Given the description of an element on the screen output the (x, y) to click on. 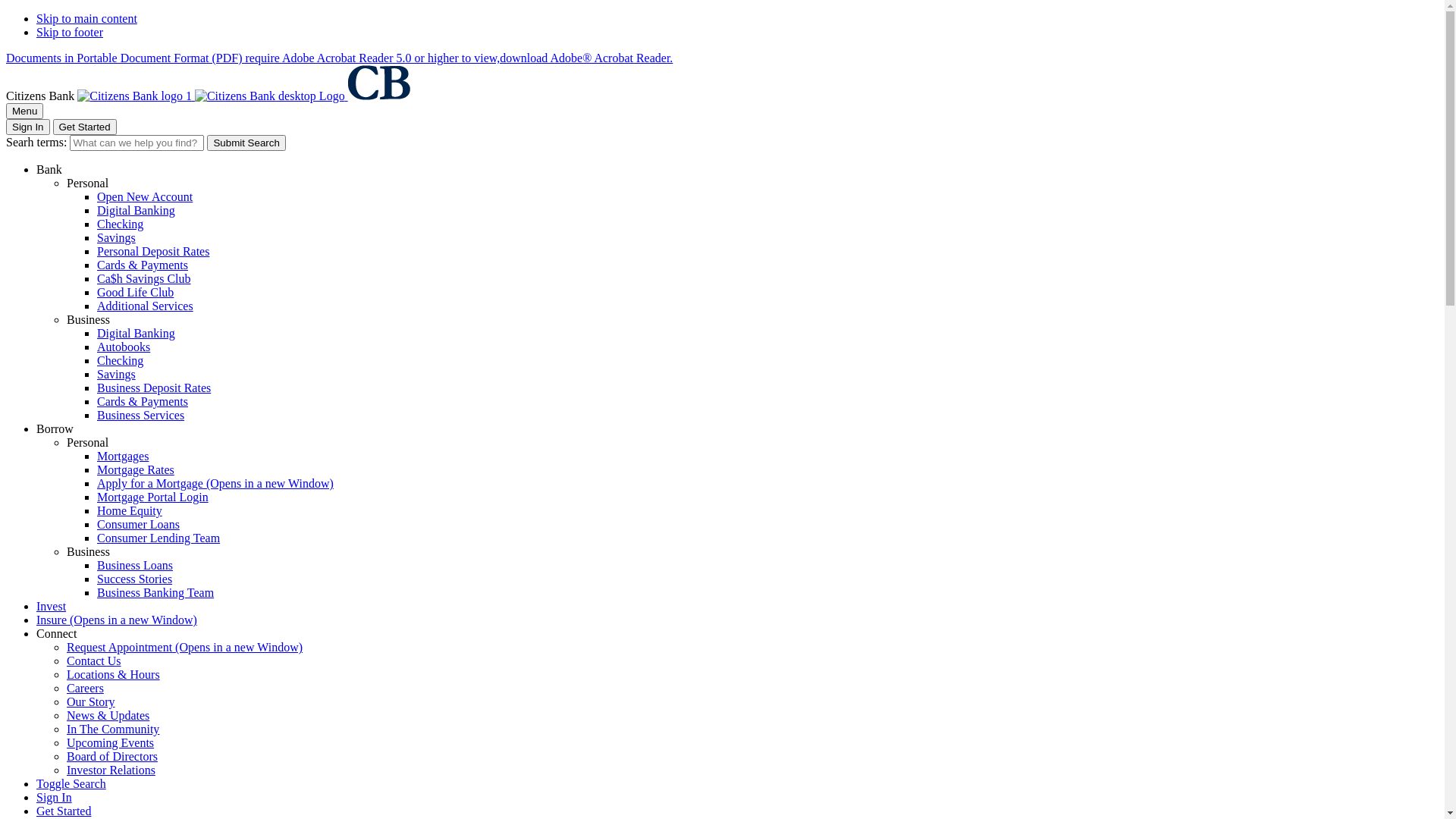
Skip to footer Element type: text (69, 31)
Toggle Search Element type: text (71, 783)
Business Banking Team Element type: text (155, 592)
Business Deposit Rates Element type: text (153, 387)
Savings Element type: text (116, 237)
Autobooks Element type: text (123, 346)
Mortgage Rates Element type: text (135, 469)
Investor Relations Element type: text (110, 769)
Get Started Element type: text (63, 810)
Checking Element type: text (120, 223)
Insure (Opens in a new Window) Element type: text (116, 619)
Business Services Element type: text (140, 414)
Success Stories Element type: text (134, 578)
Sign In Element type: text (54, 796)
Invest Element type: text (50, 605)
Board of Directors Element type: text (111, 755)
Digital Banking Element type: text (136, 332)
Apply for a Mortgage (Opens in a new Window) Element type: text (215, 482)
Business Loans Element type: text (134, 564)
Personal Deposit Rates Element type: text (153, 250)
Upcoming Events Element type: text (109, 742)
Cards & Payments Element type: text (142, 264)
Careers Element type: text (84, 687)
Home Equity Element type: text (129, 510)
Consumer Lending Team Element type: text (158, 537)
Locations & Hours Element type: text (113, 674)
Consumer Loans Element type: text (138, 523)
Citizens Bank, Mukwonago, WI Element type: hover (243, 95)
Our Story Element type: text (90, 701)
Additional Services Element type: text (145, 305)
Ca$h Savings Club Element type: text (144, 278)
In The Community Element type: text (112, 728)
Menu Element type: text (24, 111)
Mortgage Portal Login Element type: text (152, 496)
Cards & Payments Element type: text (142, 401)
Sign In Element type: text (28, 126)
Mortgages Element type: text (122, 455)
Digital Banking Element type: text (136, 209)
Request Appointment (Opens in a new Window) Element type: text (184, 646)
Skip to main content Element type: text (86, 18)
Open New Account Element type: text (144, 196)
Get Started Element type: text (84, 126)
Checking Element type: text (120, 360)
Savings Element type: text (116, 373)
Submit Search Element type: text (246, 142)
Good Life Club Element type: text (135, 291)
News & Updates Element type: text (107, 715)
Contact Us Element type: text (93, 660)
